Given the description of an element on the screen output the (x, y) to click on. 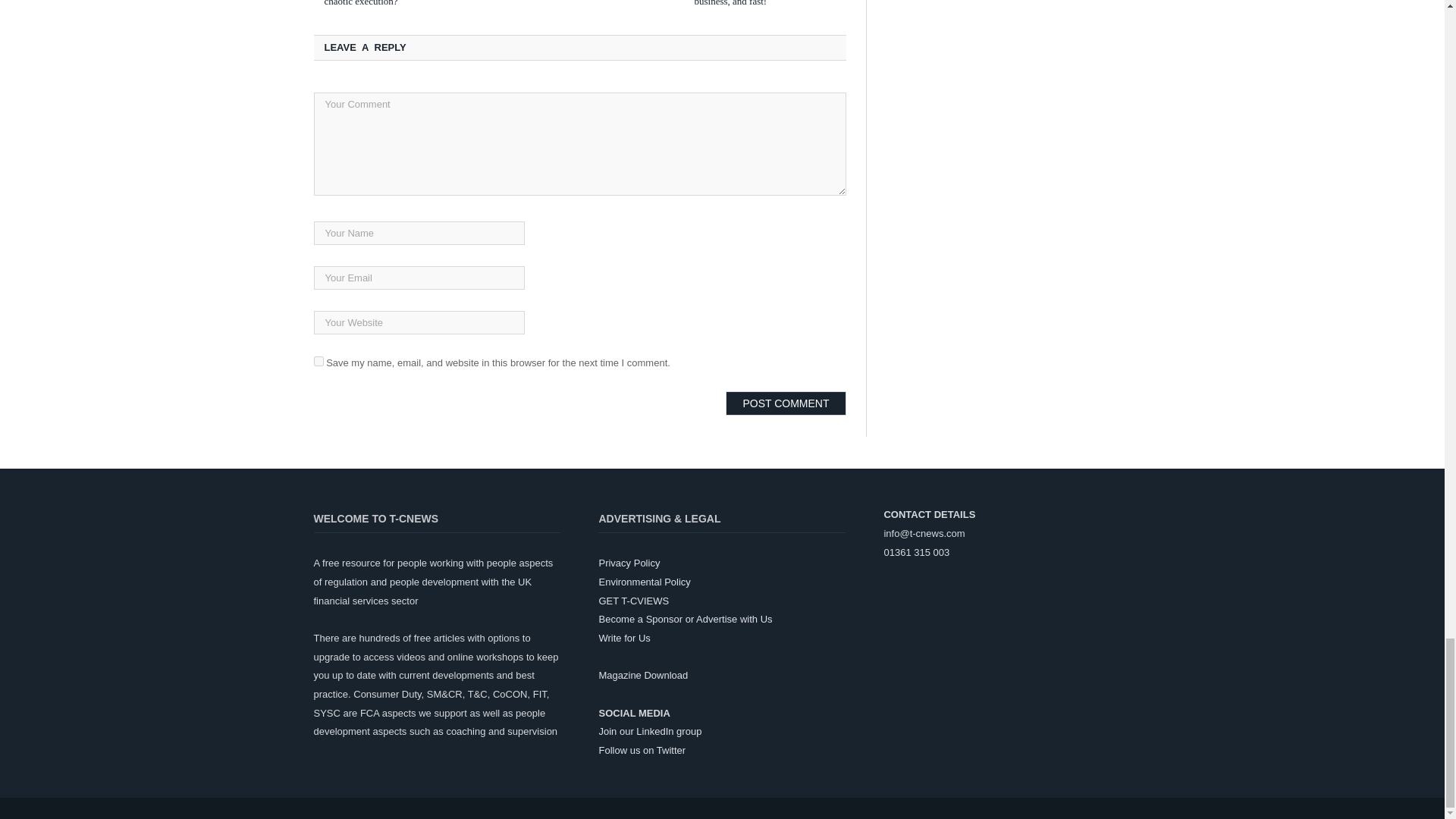
Post Comment (785, 403)
yes (318, 361)
